Given the description of an element on the screen output the (x, y) to click on. 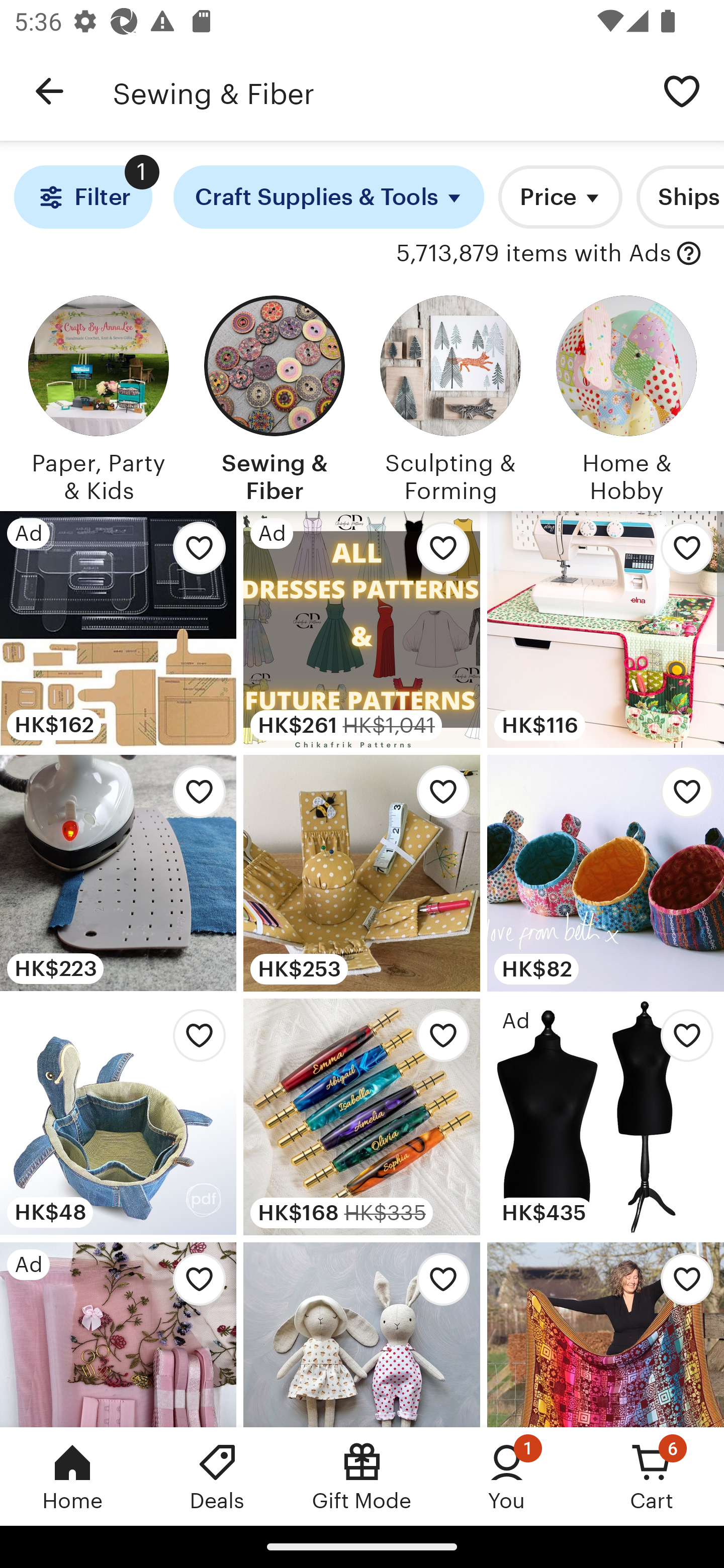
Navigate up (49, 91)
Save search (681, 90)
Sewing & Fiber (375, 91)
Filter (82, 197)
Craft Supplies & Tools (328, 197)
Price (560, 197)
5,713,879 items with Ads (533, 253)
with Ads (688, 253)
Paper, Party & Kids (97, 395)
Sewing & Fiber (273, 395)
Sculpting & Forming (449, 395)
Home & Hobby (625, 395)
Add Sewing Space Station PDF pattern to favorites (681, 553)
Add Jenerates Silicone Hemmer to favorites (194, 796)
Add Bubble Pods Sewing Pattern to favorites (681, 796)
Add Bejeweled - crochet pattern to favorites (681, 1283)
Deals (216, 1475)
Gift Mode (361, 1475)
You, 1 new notification You (506, 1475)
Cart, 6 new notifications Cart (651, 1475)
